Given the description of an element on the screen output the (x, y) to click on. 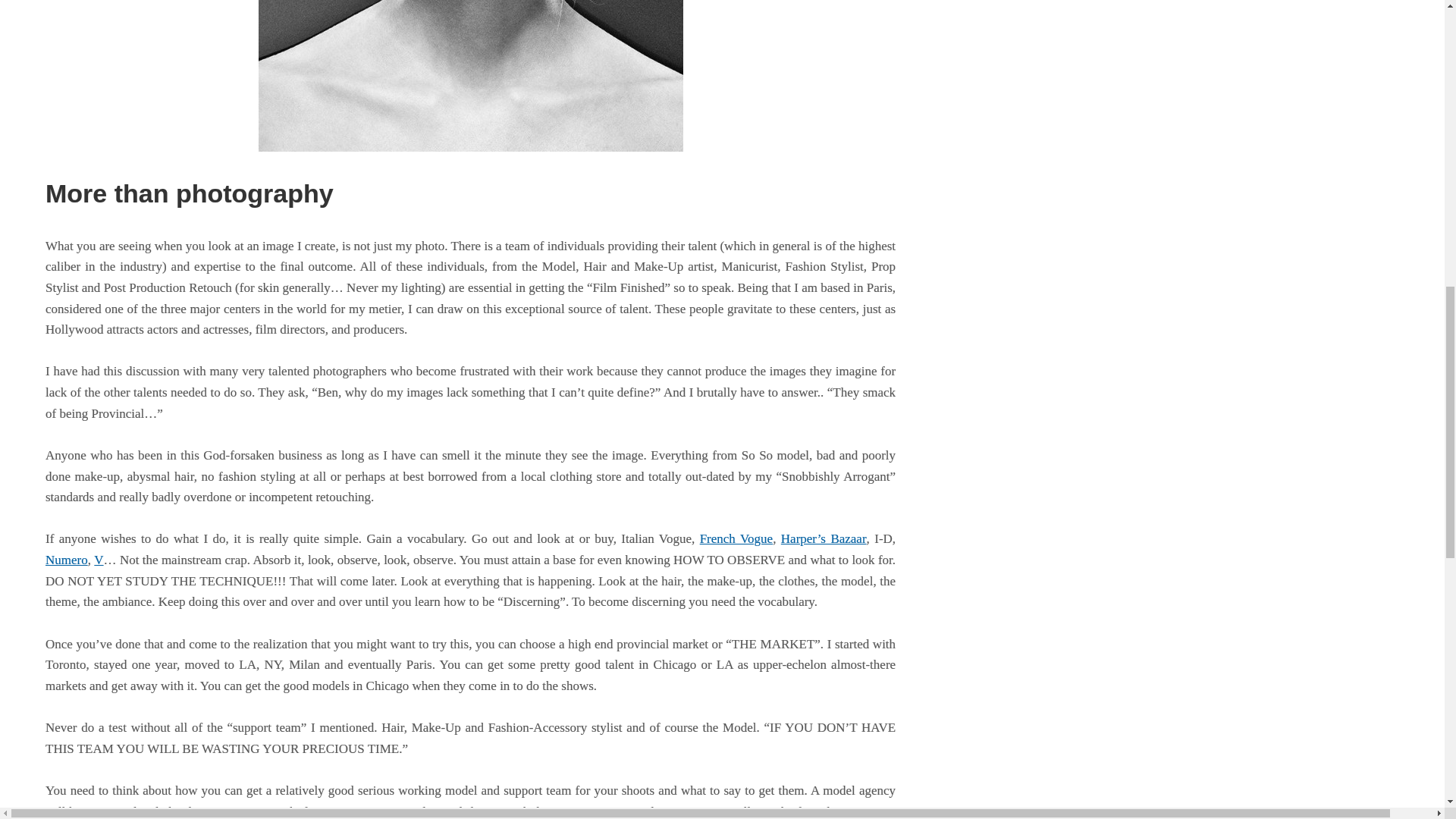
Numero (66, 559)
French Vogue (736, 538)
French Vogue (736, 538)
Vanity (470, 75)
